Given the description of an element on the screen output the (x, y) to click on. 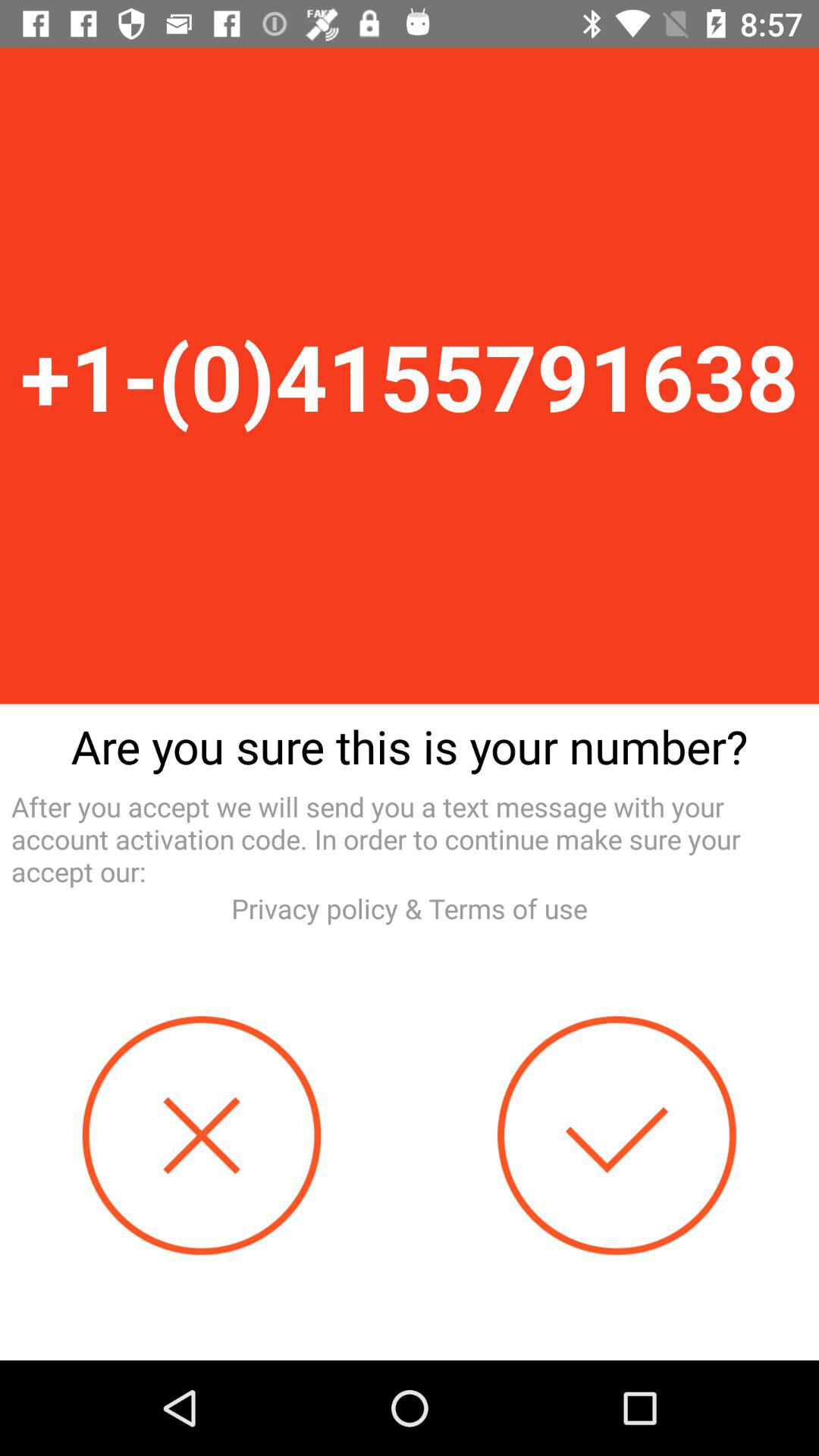
tap the icon below the privacy policy terms app (201, 1135)
